Given the description of an element on the screen output the (x, y) to click on. 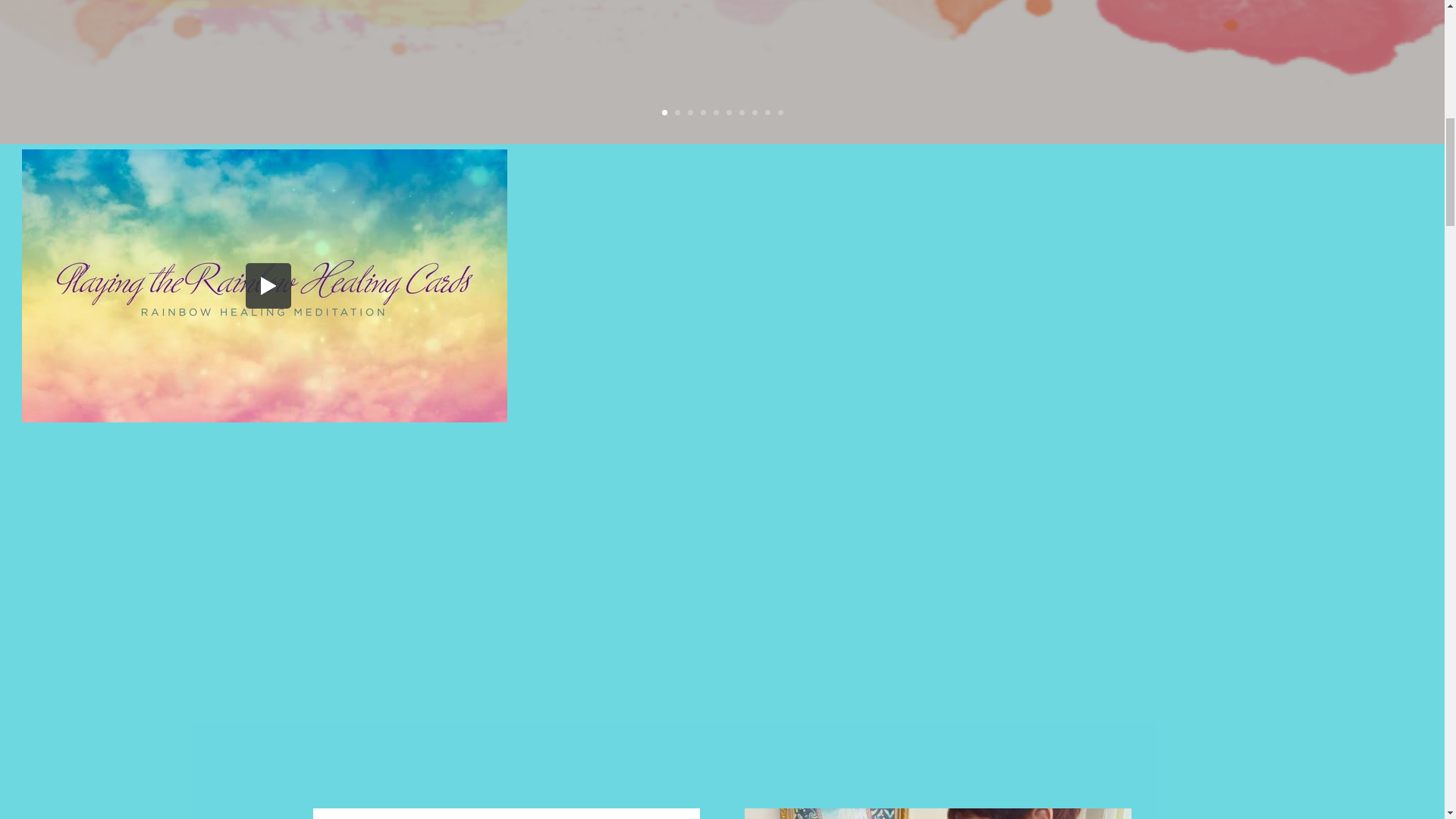
Video Player (263, 285)
